Given the description of an element on the screen output the (x, y) to click on. 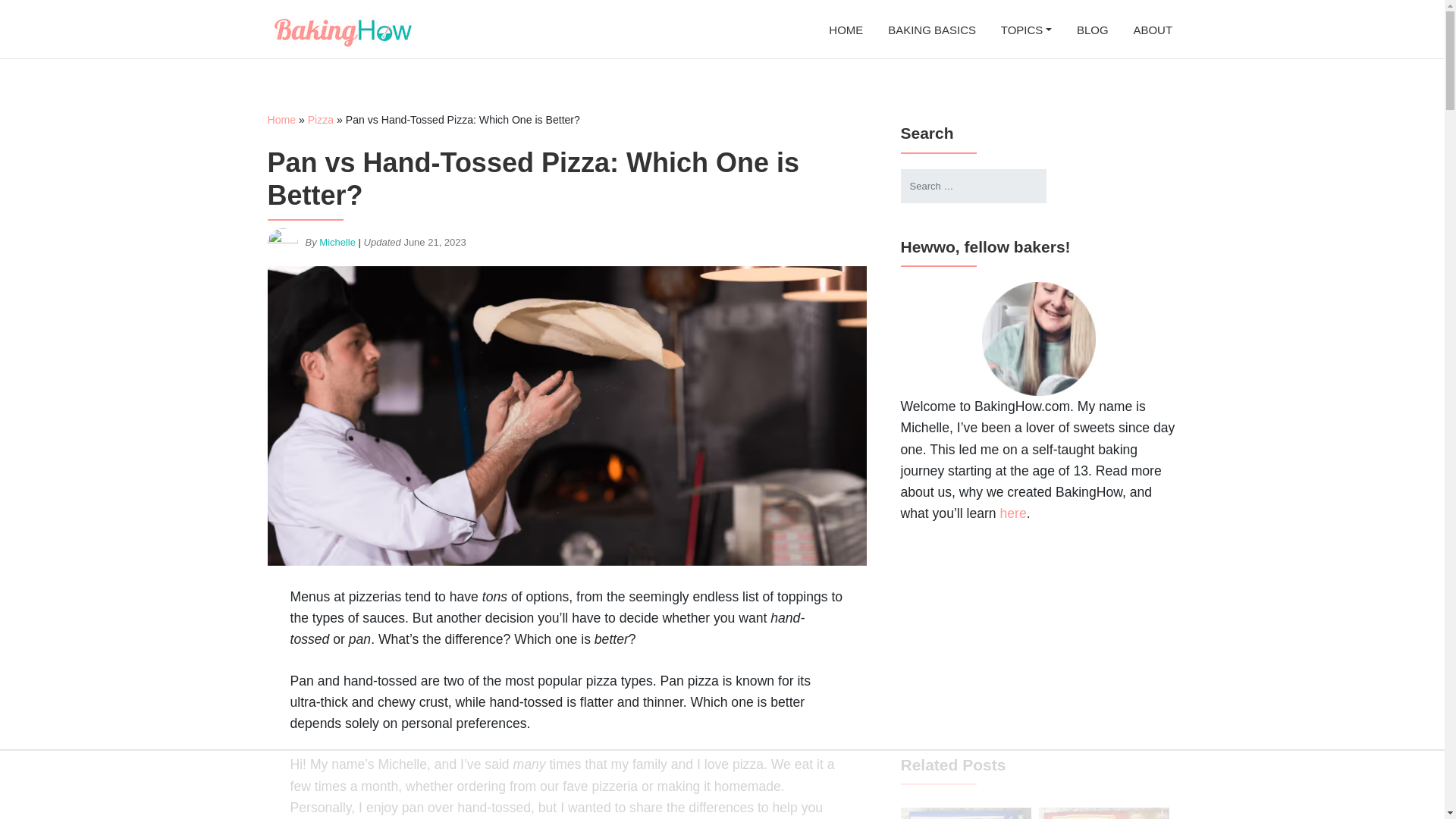
Home (280, 119)
ABOUT (1152, 29)
BLOG (1092, 29)
HOME (845, 29)
BAKING BASICS (932, 29)
Pizza (320, 119)
Search (27, 12)
Topics (1026, 29)
here (1013, 513)
Michelle (336, 242)
